Given the description of an element on the screen output the (x, y) to click on. 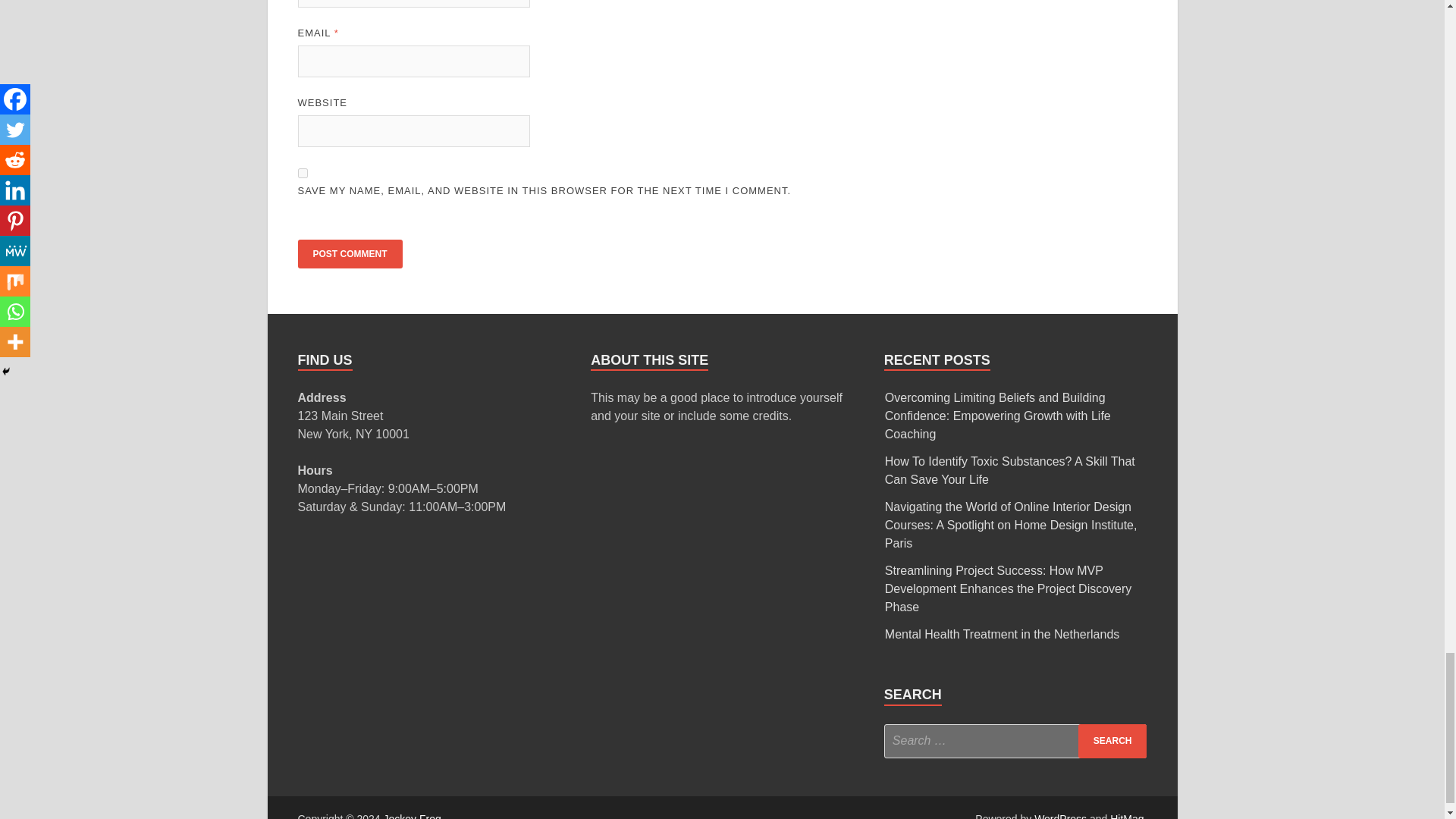
Post Comment (349, 253)
Search (1112, 740)
yes (302, 173)
Search (1112, 740)
